Given the description of an element on the screen output the (x, y) to click on. 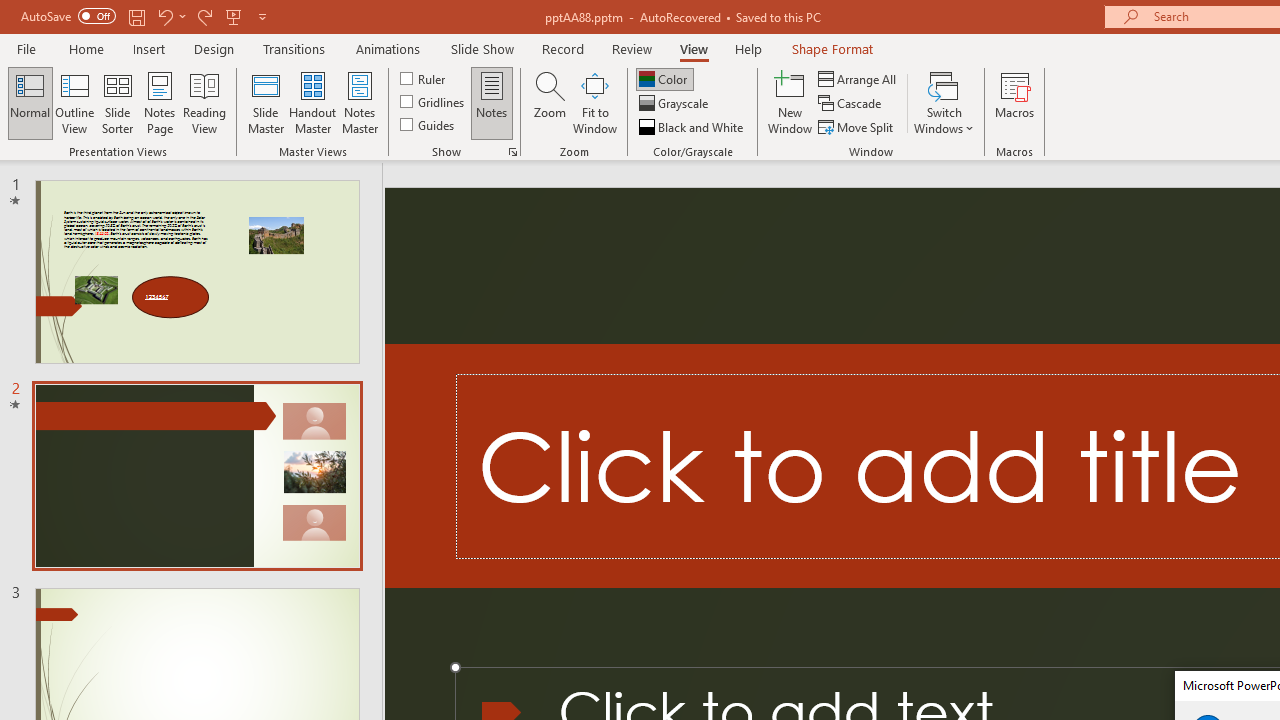
Notes Page (159, 102)
Color (664, 78)
Grid Settings... (512, 151)
Outline View (74, 102)
Move Split (857, 126)
